Given the description of an element on the screen output the (x, y) to click on. 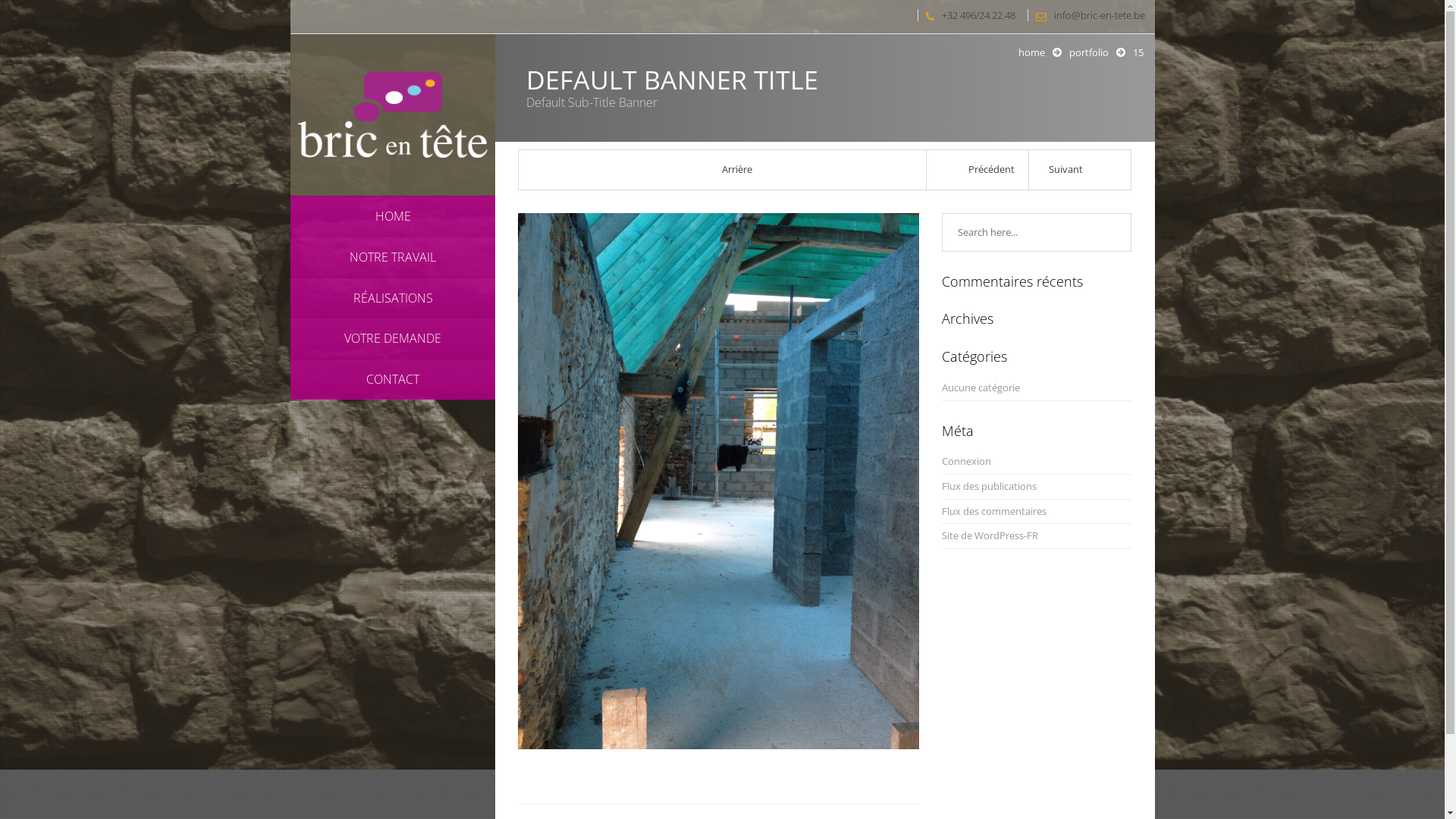
Connexion Element type: text (966, 461)
Suivant Element type: text (1080, 169)
portfolio Element type: text (1088, 52)
Flux des commentaires Element type: text (993, 511)
Flux des publications Element type: text (988, 486)
info@bric-en-tete.be Element type: text (1086, 14)
+32 496/24.22.48 Element type: text (965, 14)
NOTRE TRAVAIL Element type: text (391, 256)
CONTACT Element type: text (391, 378)
home Element type: text (1030, 52)
VOTRE DEMANDE Element type: text (391, 337)
Site de WordPress-FR Element type: text (989, 535)
HOME Element type: text (391, 215)
